Given the description of an element on the screen output the (x, y) to click on. 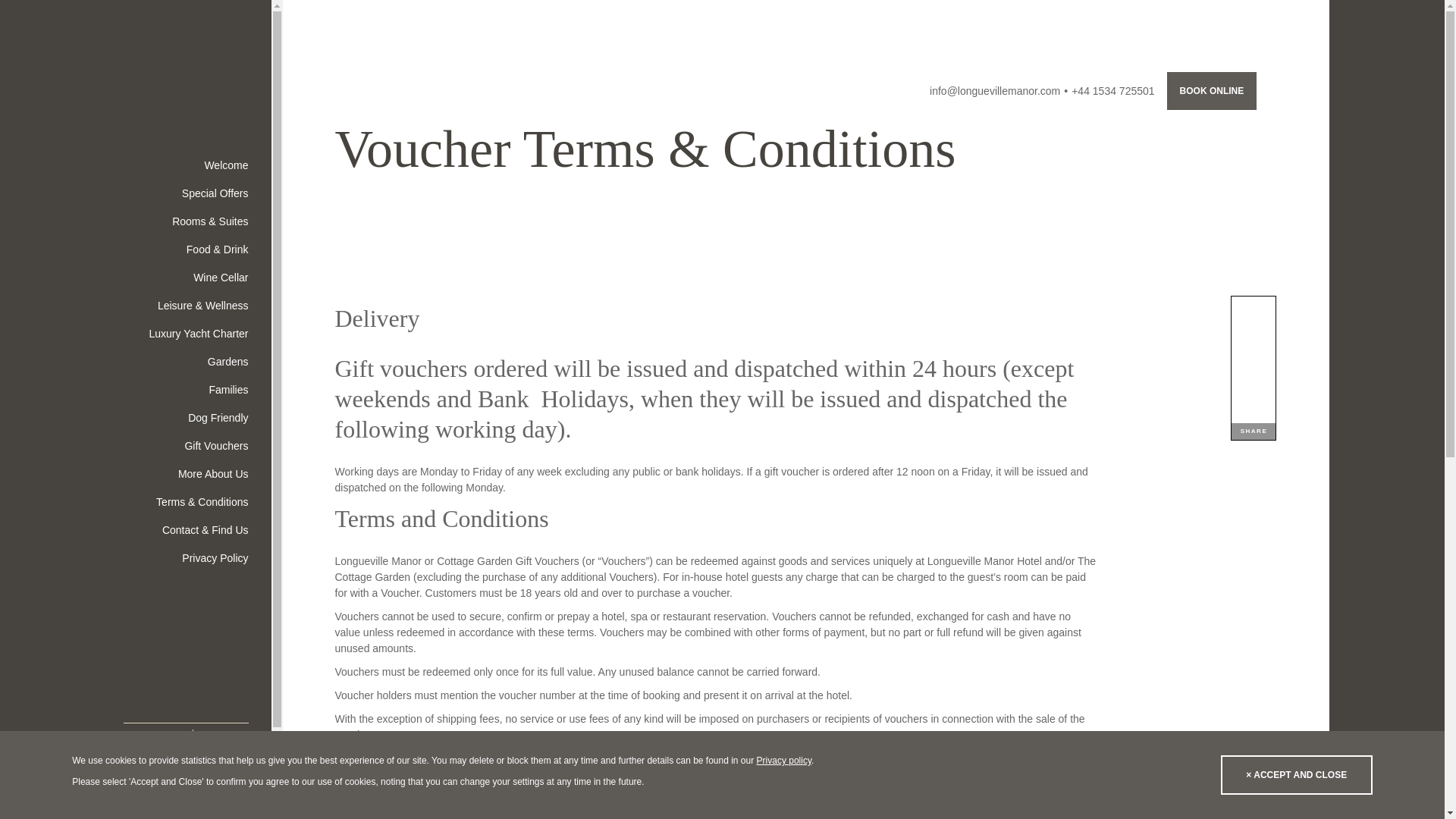
Families (184, 389)
Luxury Yacht Charter (184, 334)
Dog Friendly (184, 418)
Wine Cellar (184, 277)
Privacy Policy (783, 760)
Gardens (184, 361)
BOOK ONLINE (1212, 90)
Privacy Policy (184, 558)
More About Us (184, 474)
Welcome (184, 165)
Gift Vouchers (184, 446)
Special Offers (184, 193)
